Given the description of an element on the screen output the (x, y) to click on. 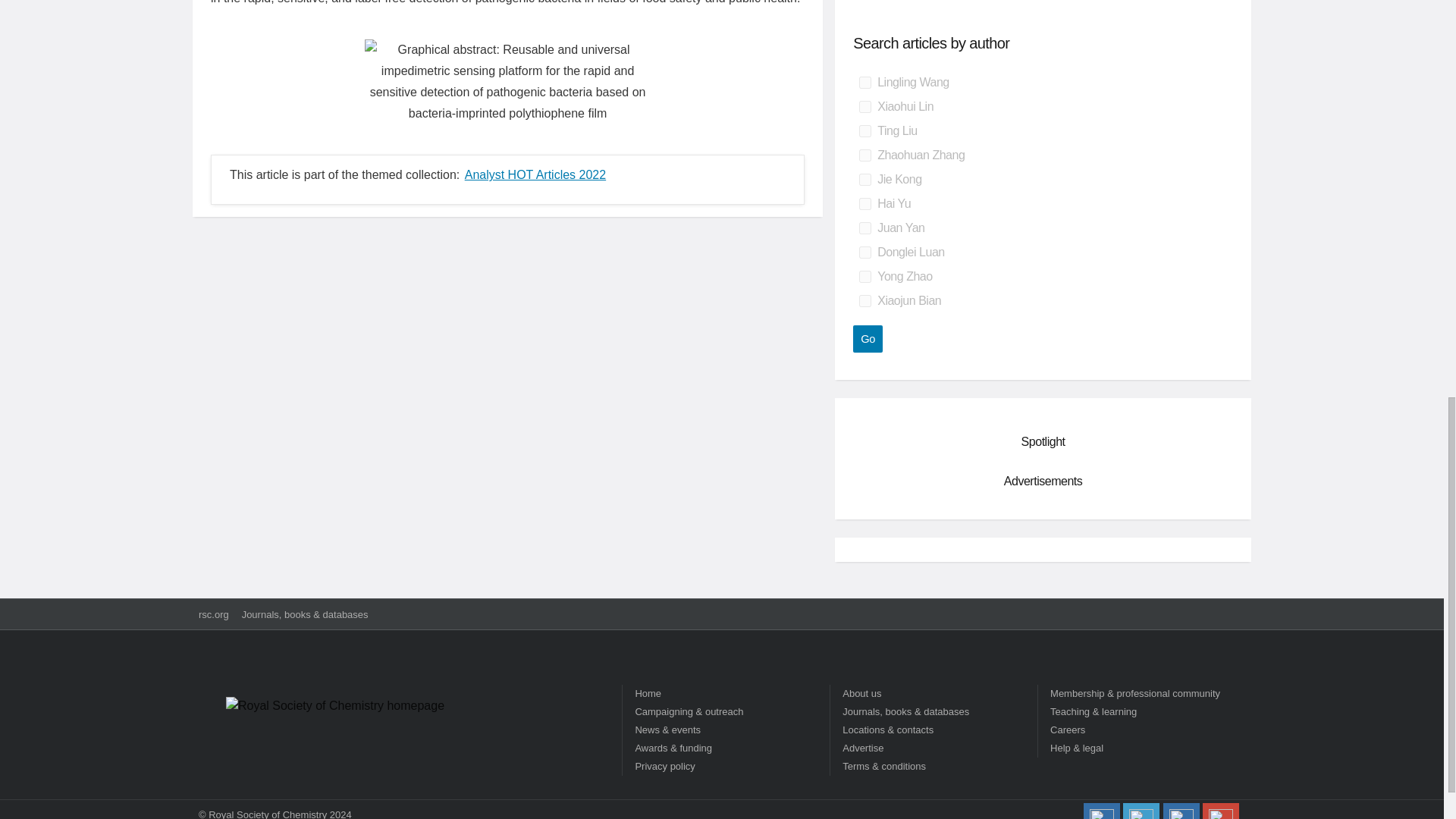
Analyst HOT Articles 2022 (535, 174)
on (864, 155)
on (864, 82)
on (864, 252)
Go (867, 338)
on (864, 179)
on (864, 106)
on (864, 276)
Go (867, 338)
on (864, 203)
